Given the description of an element on the screen output the (x, y) to click on. 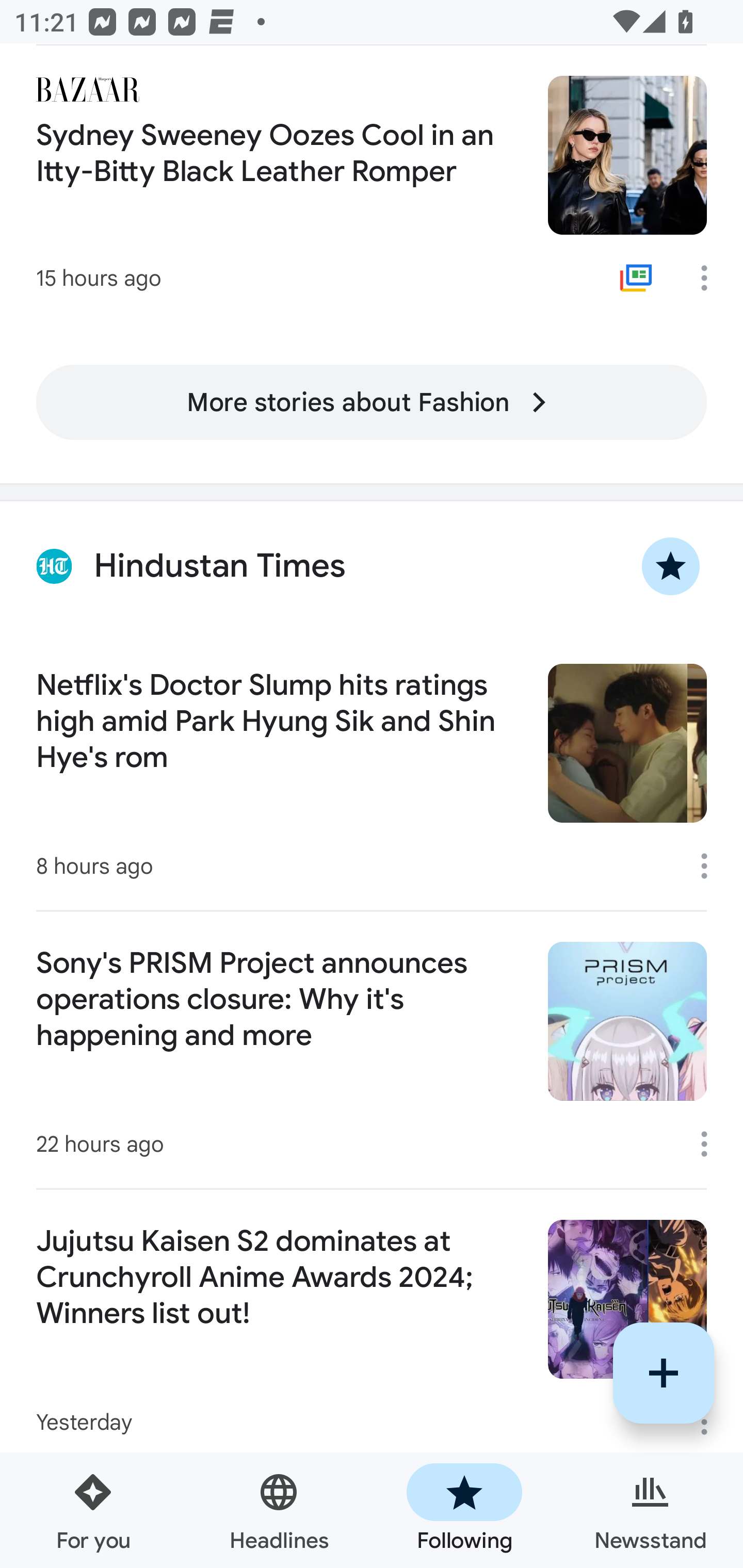
More options (711, 278)
More stories about Fashion (371, 402)
Hindustan Times Hindustan Times Unfollow (371, 566)
Unfollow (670, 566)
More options (711, 866)
More options (711, 1143)
Follow (663, 1372)
For you (92, 1509)
Headlines (278, 1509)
Following (464, 1509)
Newsstand (650, 1509)
